Given the description of an element on the screen output the (x, y) to click on. 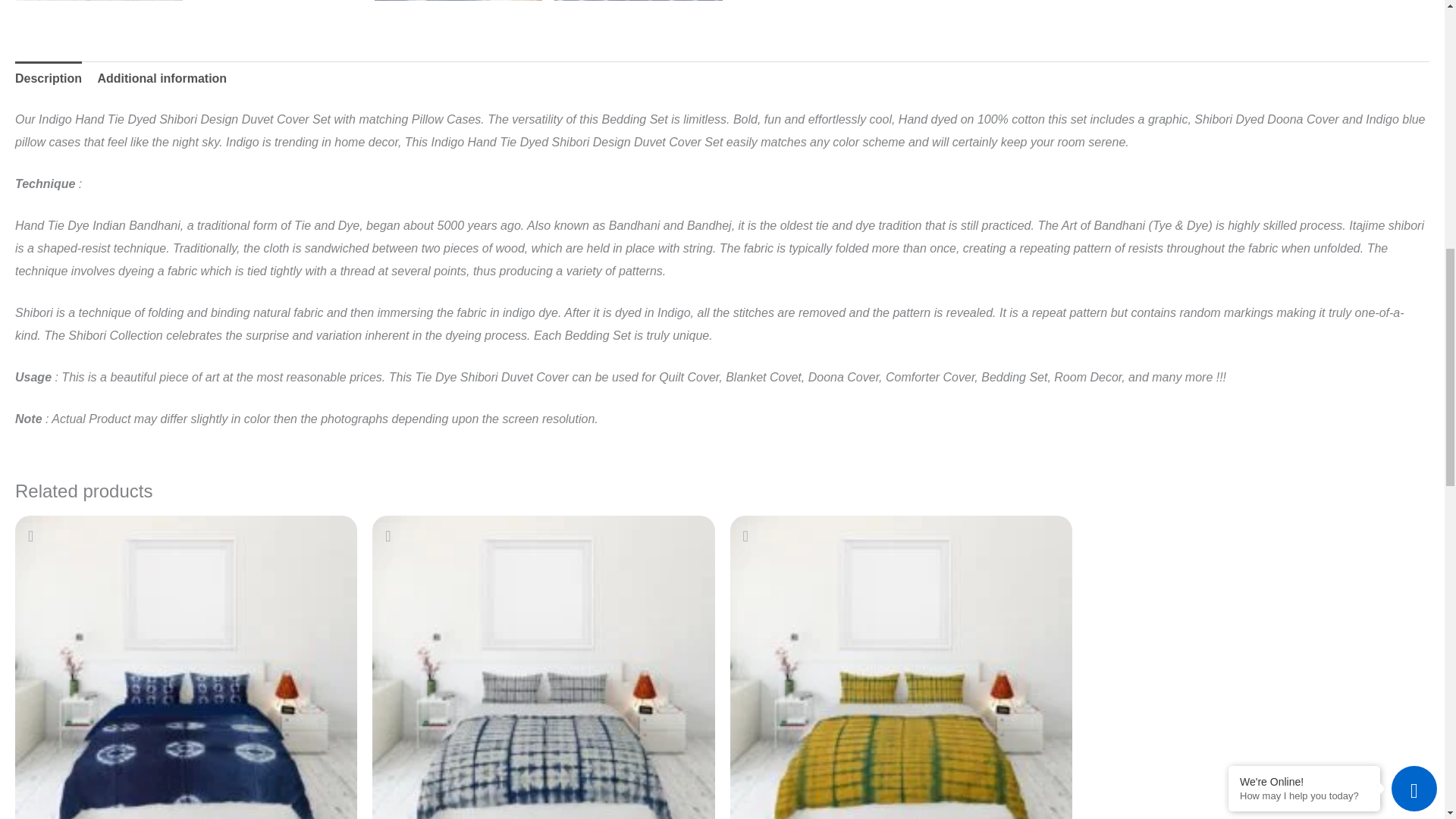
P1 Trade Star Exports (543, 667)
P1 Trade Star Exports (185, 667)
